Given the description of an element on the screen output the (x, y) to click on. 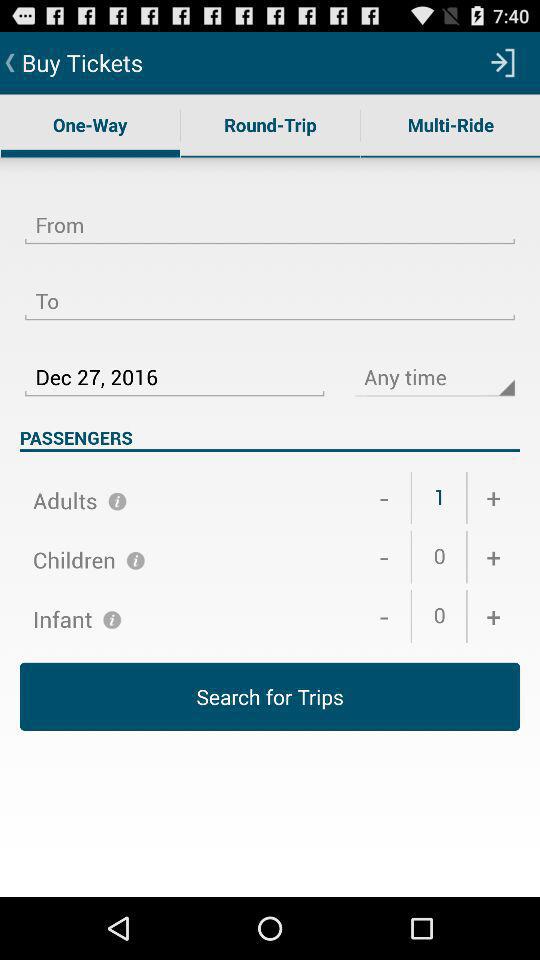
turn off the item above dec 27, 2016 item (269, 289)
